Given the description of an element on the screen output the (x, y) to click on. 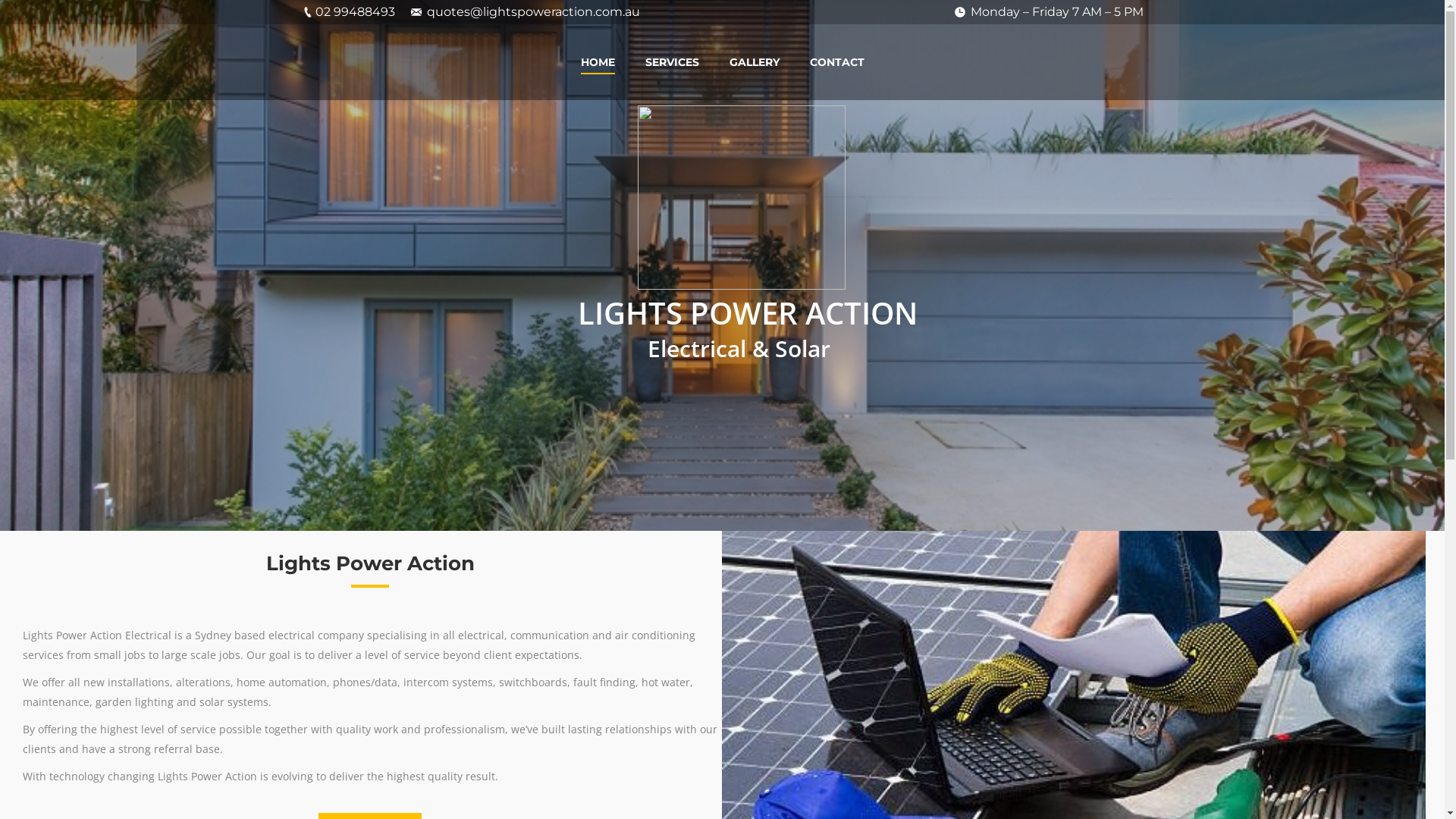
GALLERY Element type: text (754, 61)
HOME Element type: text (597, 61)
SERVICES Element type: text (671, 61)
CONTACT Element type: text (836, 61)
